Given the description of an element on the screen output the (x, y) to click on. 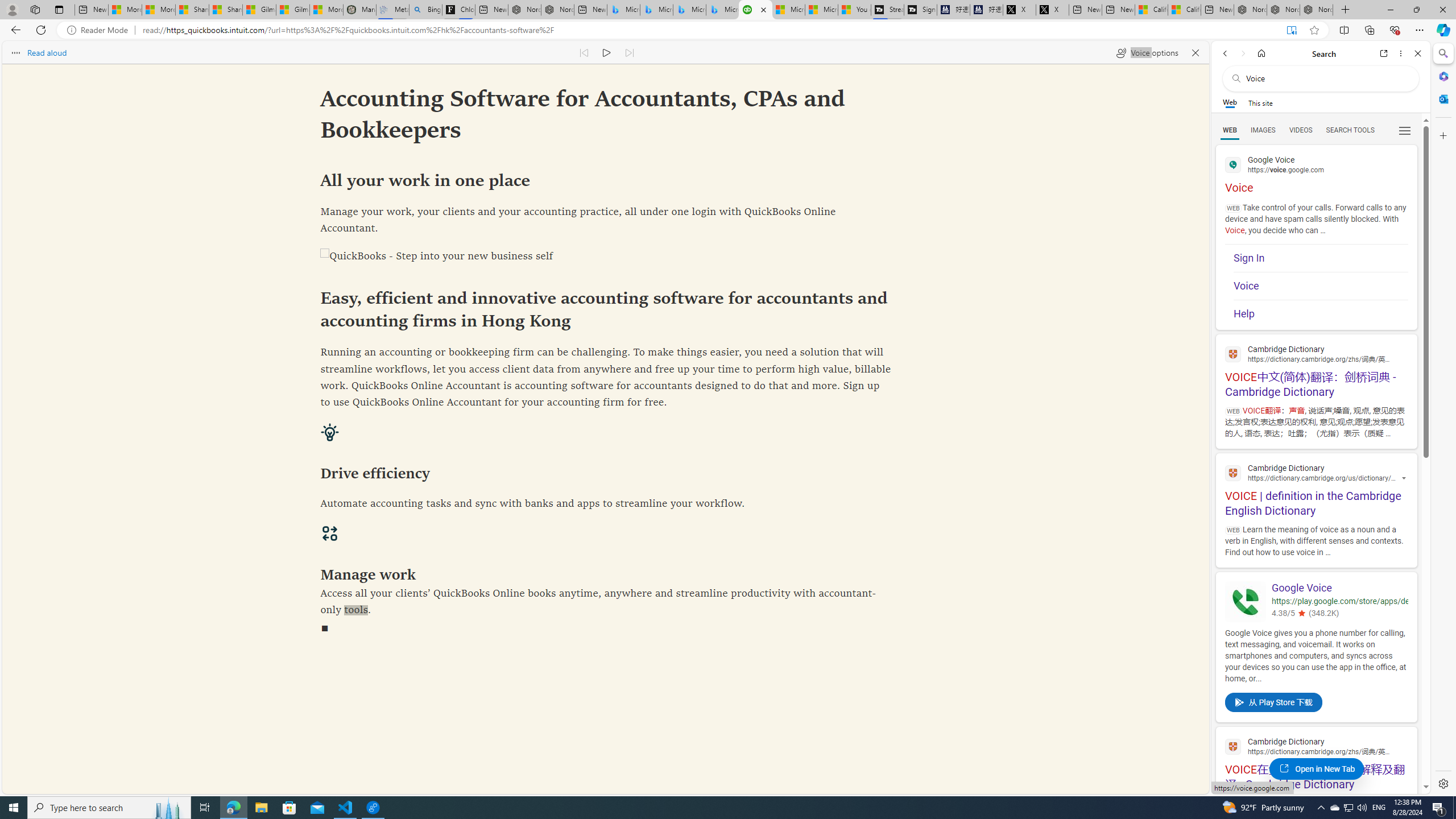
Forward (1242, 53)
Google Voice (1245, 601)
Sign In (1320, 258)
Actions for this site (1404, 478)
Continue to read aloud (Ctrl+Shift+U) (606, 52)
VIDEOS (1300, 130)
Microsoft Bing Travel - Stays in Bangkok, Bangkok, Thailand (656, 9)
Reader Mode (100, 29)
Read next paragraph (628, 52)
IMAGES (1262, 130)
Global web icon (1232, 746)
